Given the description of an element on the screen output the (x, y) to click on. 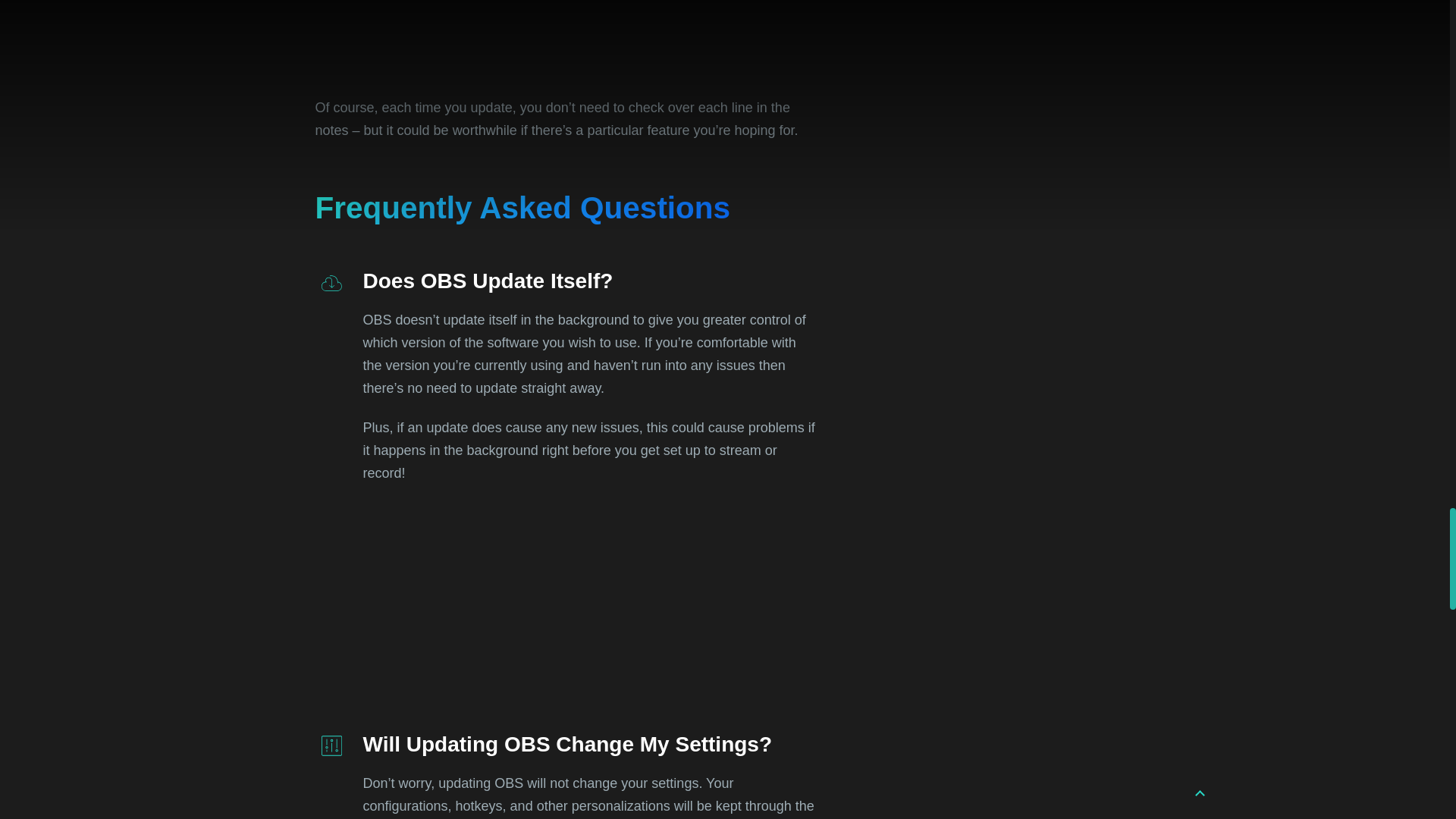
adjustments (331, 745)
download (331, 282)
